Given the description of an element on the screen output the (x, y) to click on. 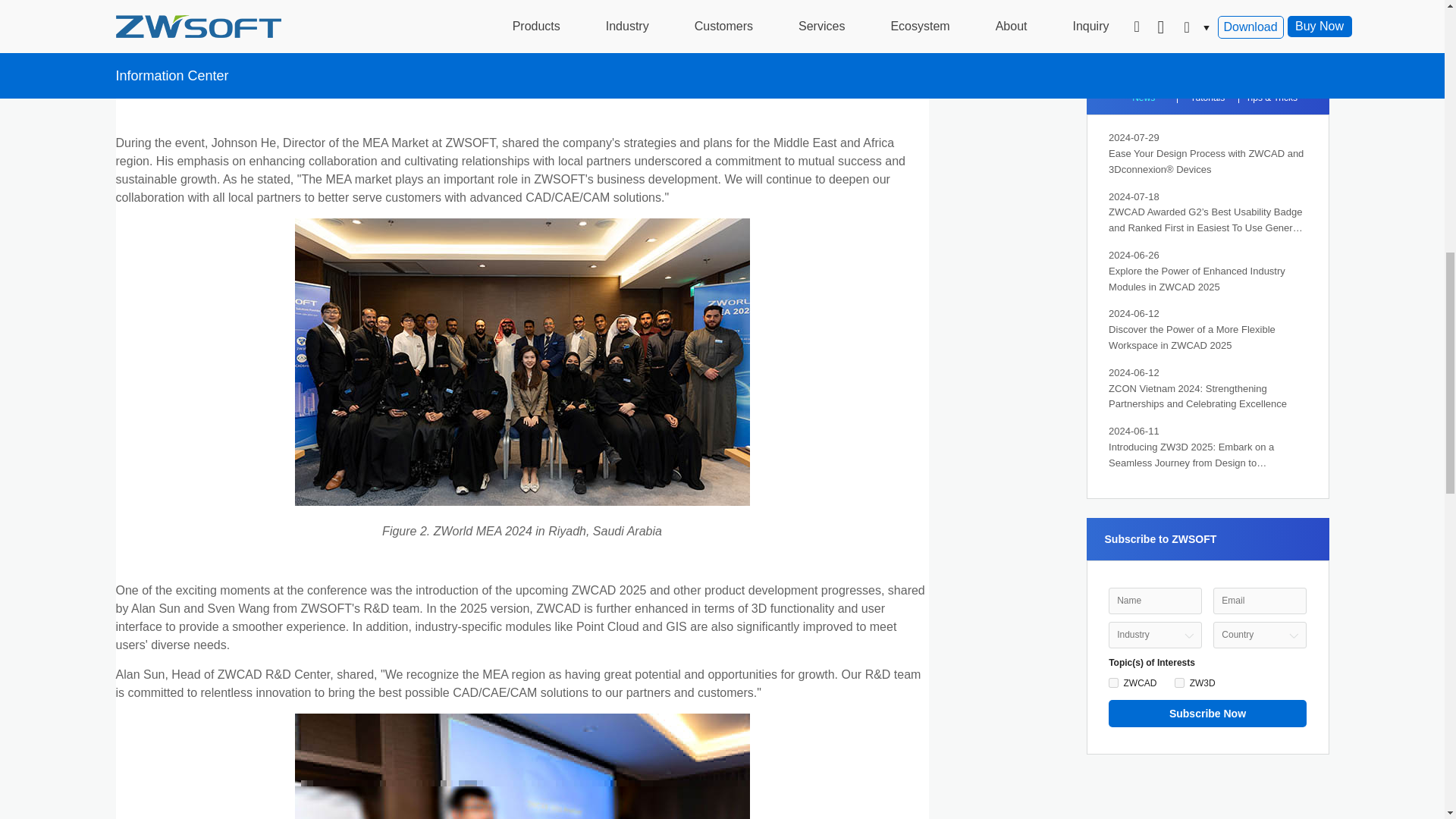
ZWCAD (1113, 682)
Explore the Power of Enhanced Industry Modules in ZWCAD 2025 (1207, 279)
ZW3D (1179, 682)
